Given the description of an element on the screen output the (x, y) to click on. 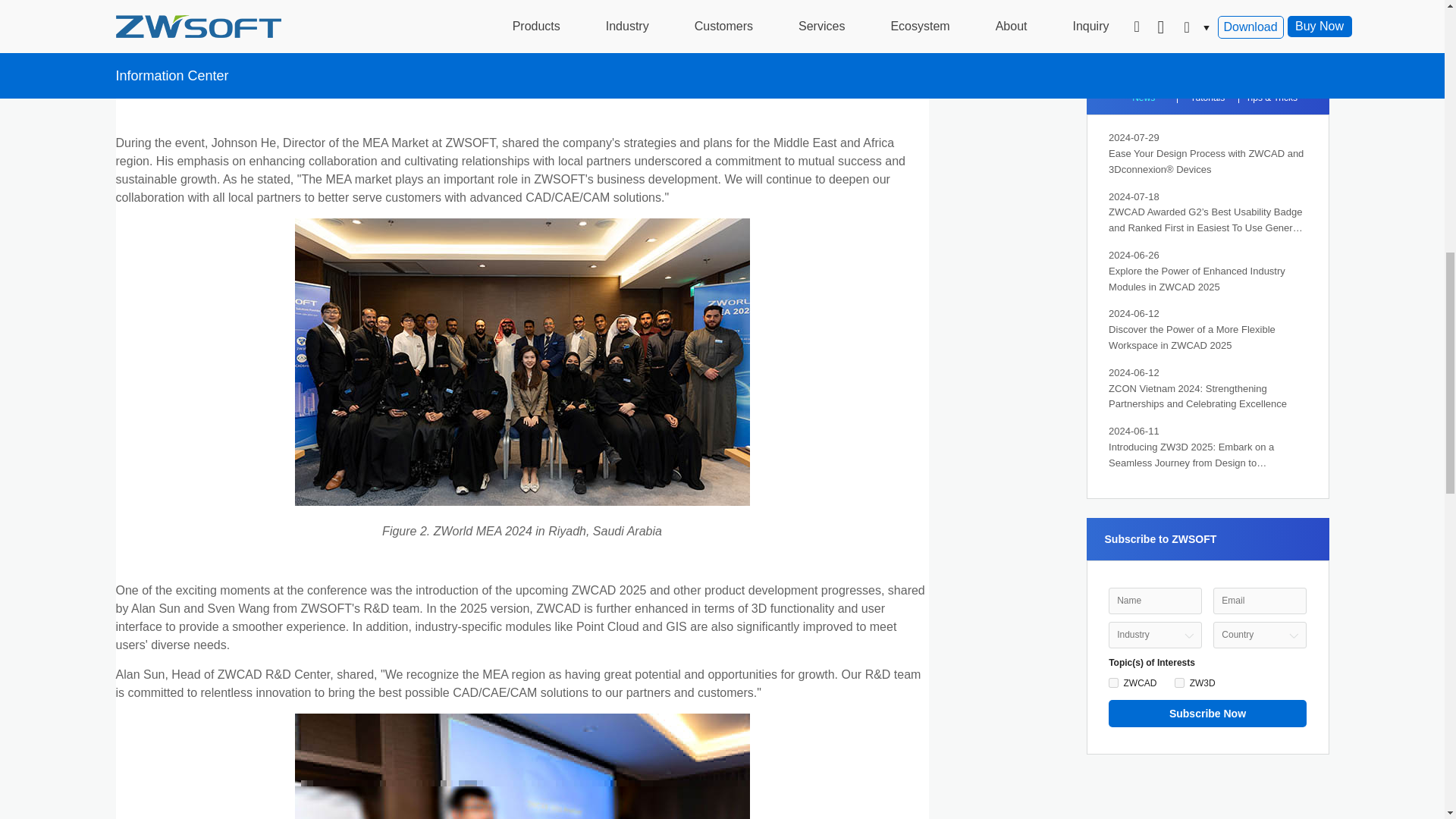
ZWCAD (1113, 682)
Explore the Power of Enhanced Industry Modules in ZWCAD 2025 (1207, 279)
ZW3D (1179, 682)
